Given the description of an element on the screen output the (x, y) to click on. 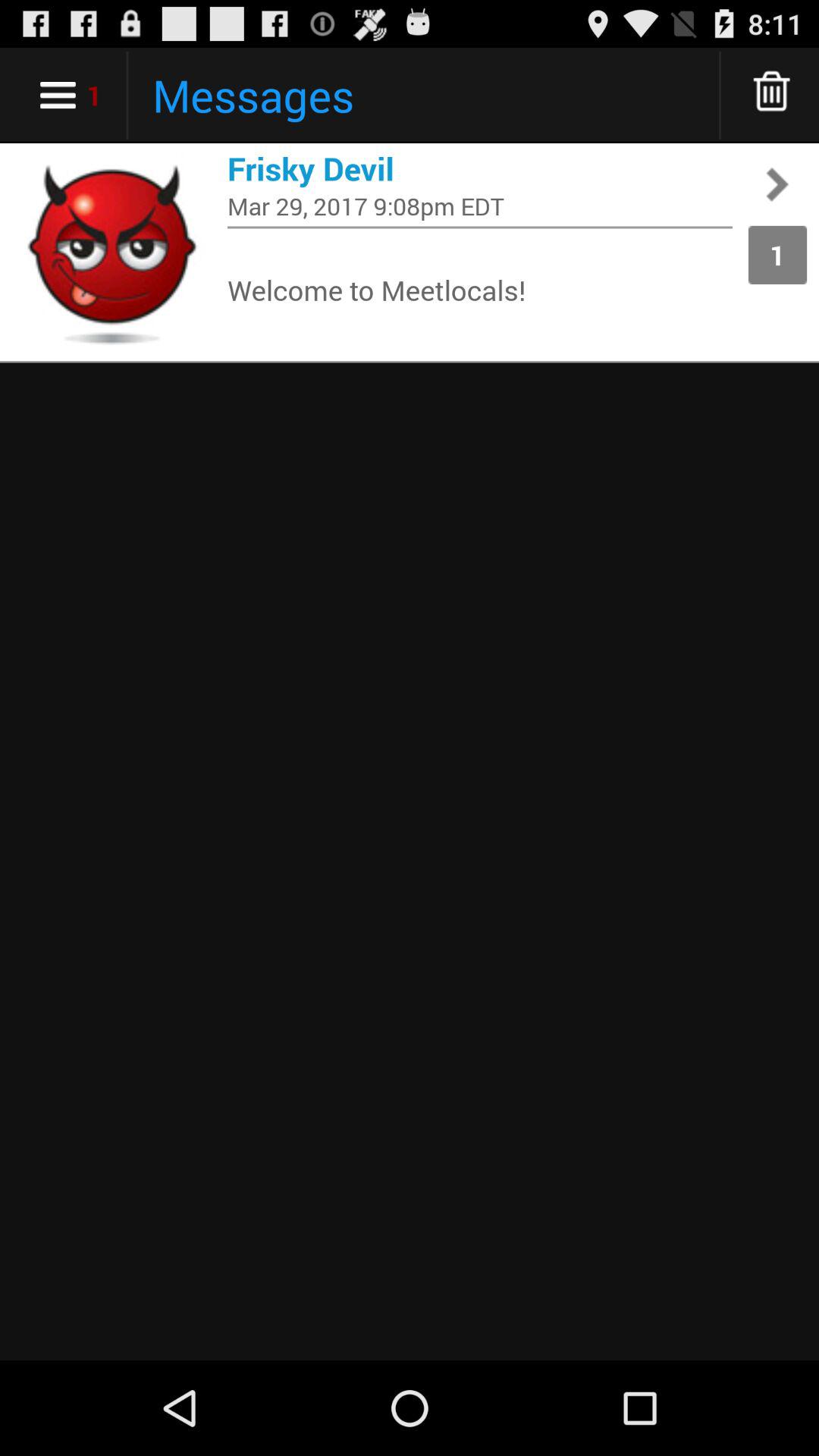
click the welcome to meetlocals icon (479, 289)
